Given the description of an element on the screen output the (x, y) to click on. 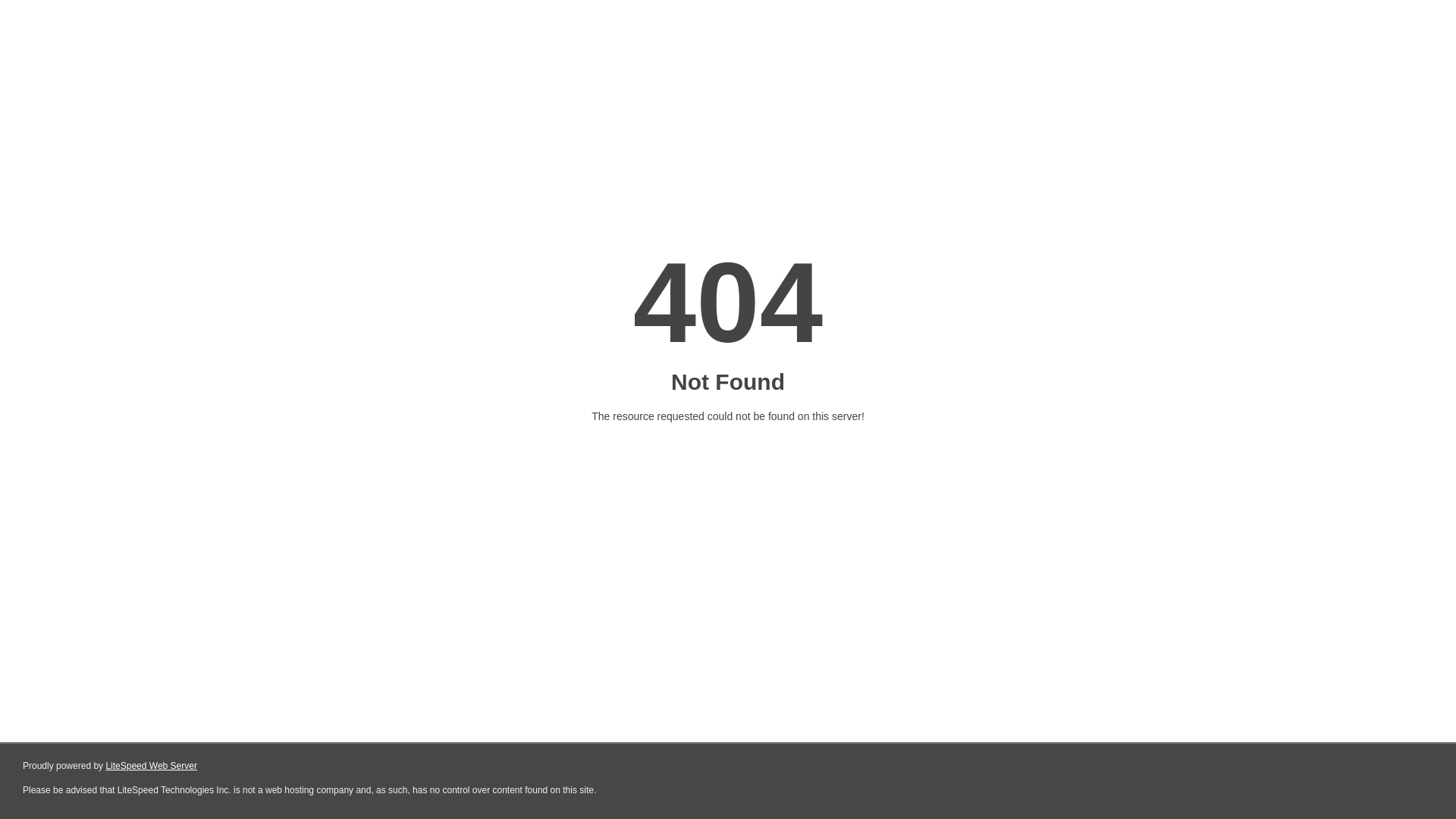
LiteSpeed Web Server Element type: text (151, 765)
